Given the description of an element on the screen output the (x, y) to click on. 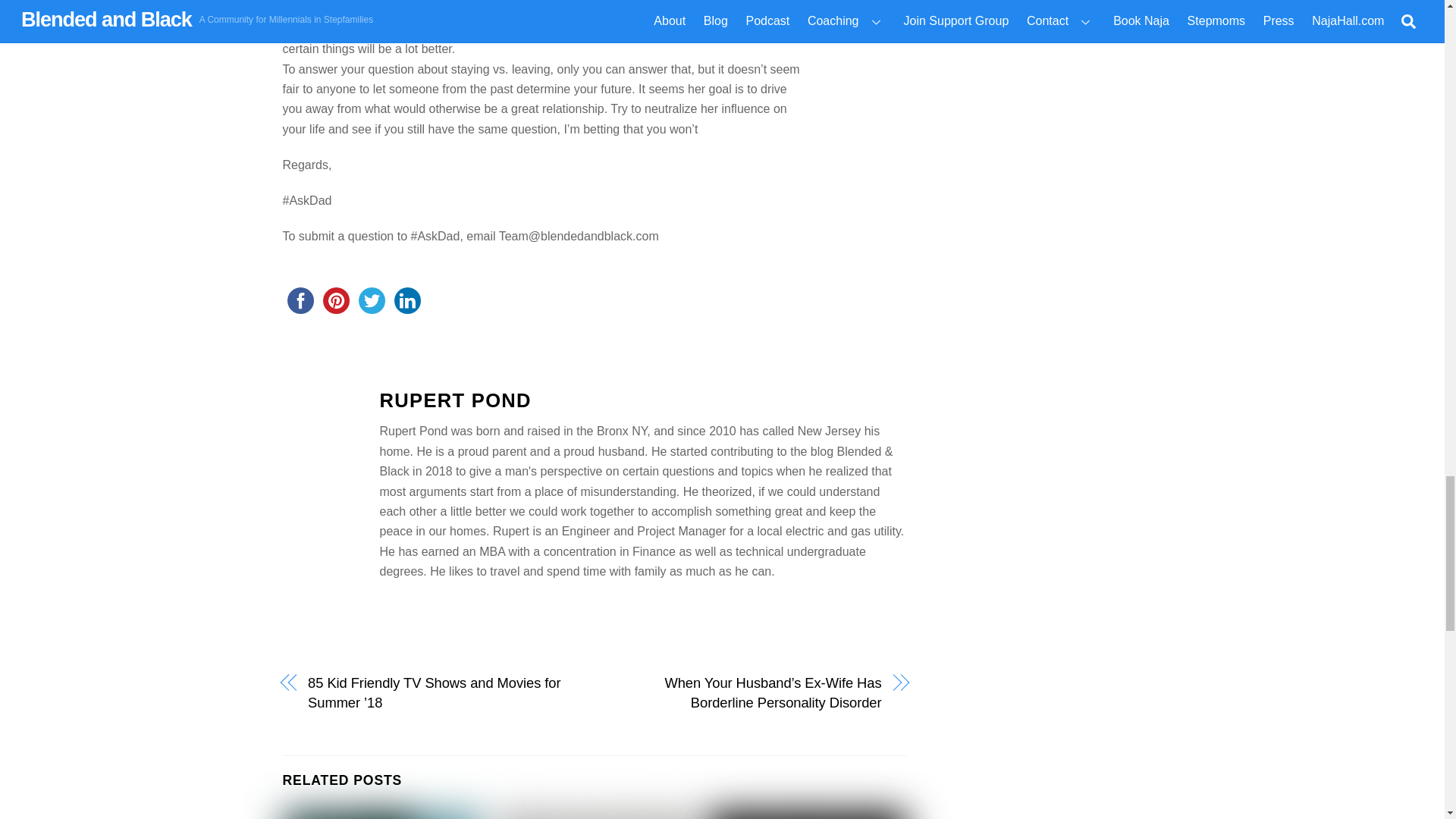
facebook (299, 300)
pinterest (335, 300)
